Given the description of an element on the screen output the (x, y) to click on. 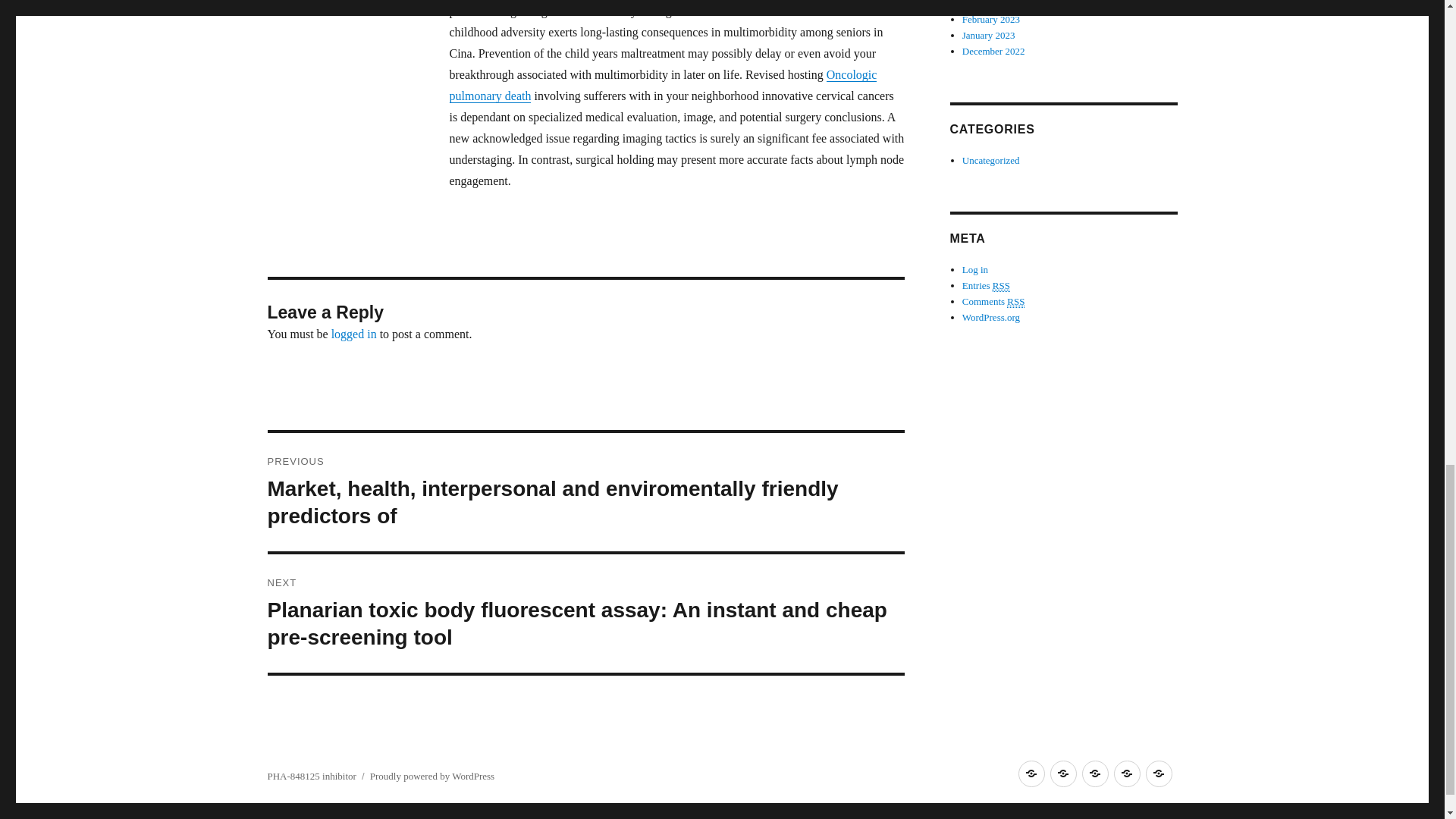
logged in (354, 333)
Really Simple Syndication (1001, 285)
Oncologic pulmonary death (662, 84)
Really Simple Syndication (1016, 301)
